Given the description of an element on the screen output the (x, y) to click on. 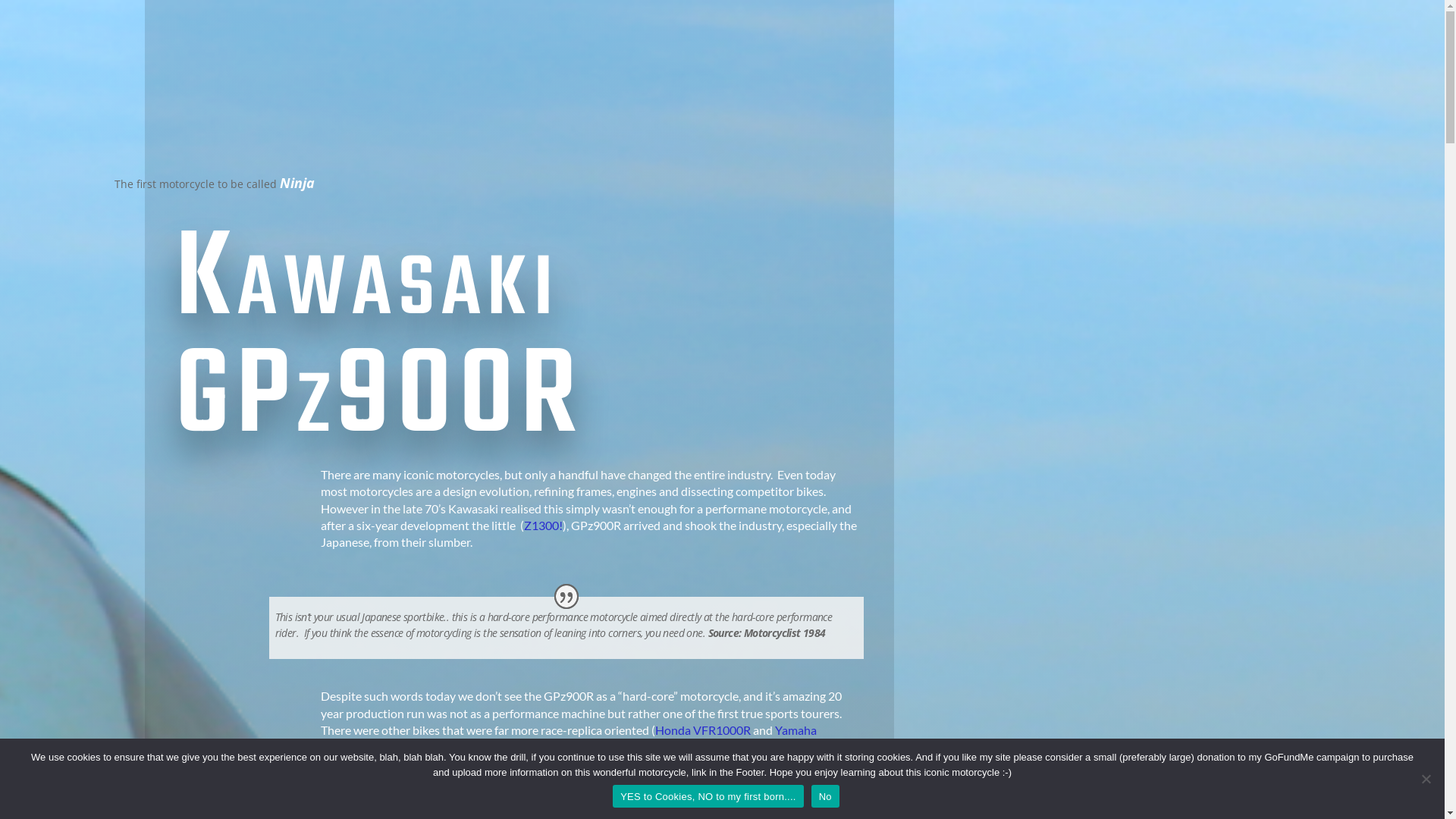
YES to Cookies, NO to my first born.... Element type: text (707, 795)
No Element type: hover (1425, 778)
Honda VFR1000R Element type: text (702, 729)
No Element type: text (825, 795)
17th fastest production Element type: text (627, 810)
Z1300! Element type: text (542, 524)
Yamaha RD500LC Element type: text (567, 737)
Ninja Element type: text (296, 183)
